Given the description of an element on the screen output the (x, y) to click on. 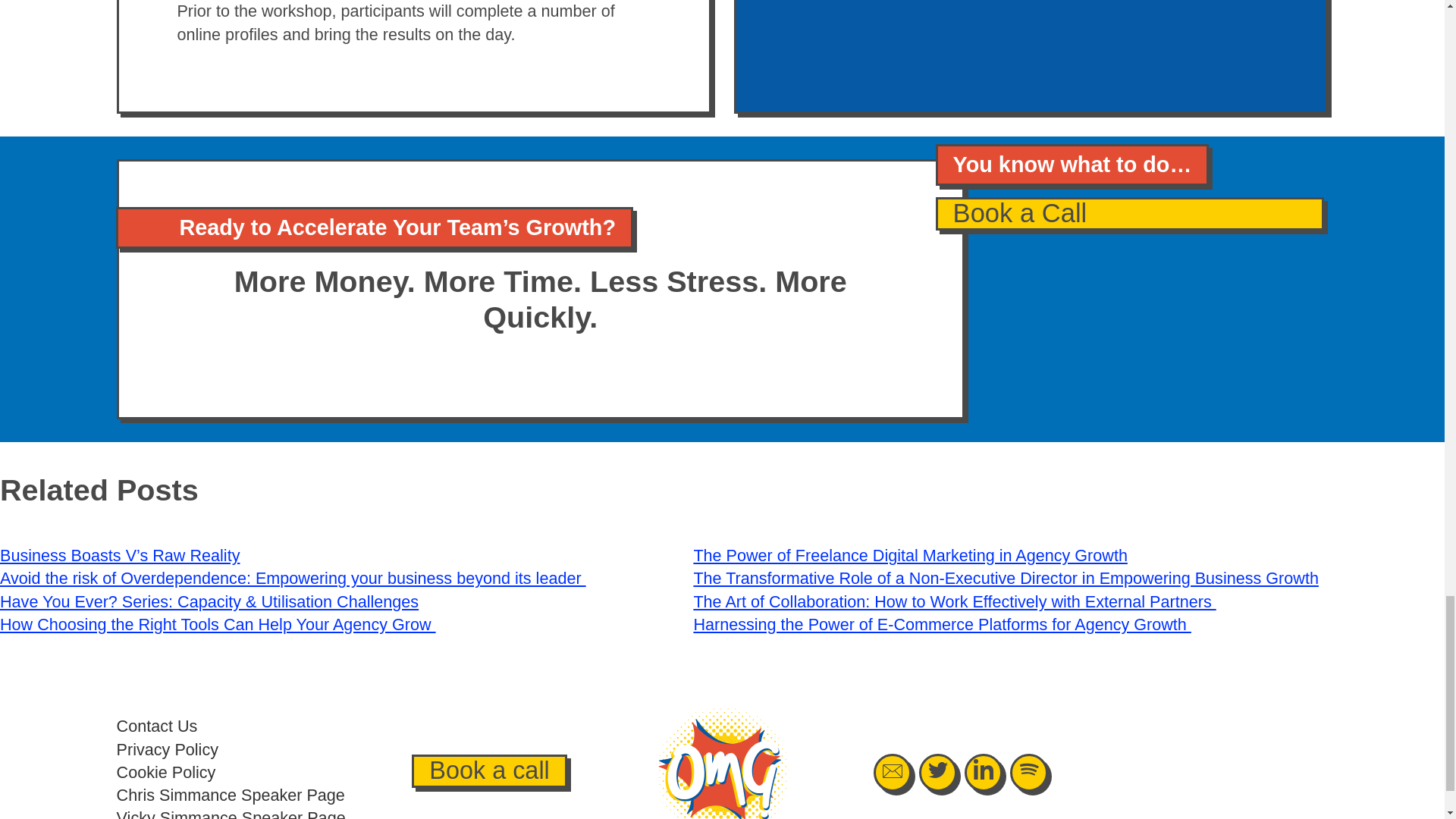
Contact Us (157, 725)
Book a Call (1130, 213)
Chris Simmance Speaker Page (230, 794)
How Choosing the Right Tools Can Help Your Agency Grow  (217, 624)
The Power of Freelance Digital Marketing in Agency Growth (909, 555)
Vicky Simmance Speaker Page (231, 813)
Privacy Policy (167, 749)
Cookie Policy (165, 772)
